Given the description of an element on the screen output the (x, y) to click on. 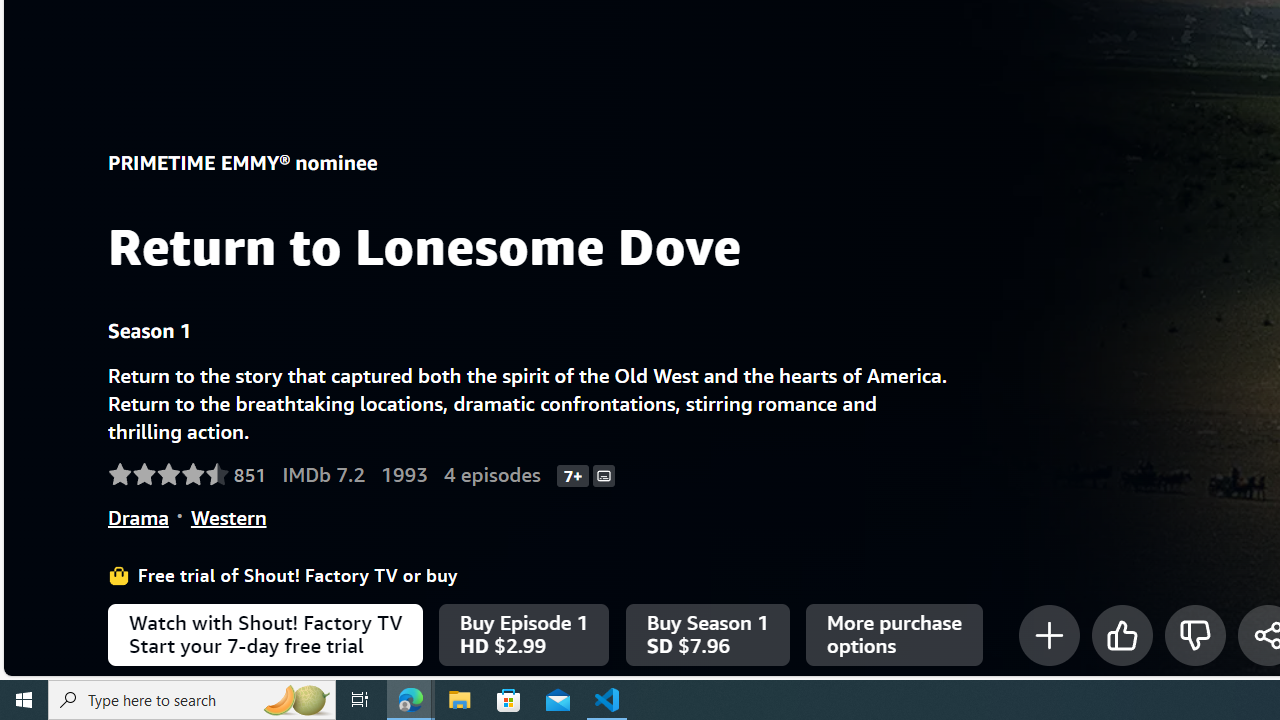
Not for me (1194, 635)
Rated 4.6 out of 5 stars by 851 Amazon customers. (187, 475)
Watch with Shout! Factory TV Start your 7-day free trial (265, 635)
More purchase options (894, 635)
Buy Season 1 SD $7.96 (706, 635)
Western (228, 517)
Add to Watchlist (1048, 635)
Class: mO+eGr (1194, 635)
Subtitles (603, 474)
Drama (137, 517)
Like (1121, 635)
Buy Episode 1 HD $2.99 (524, 635)
